Given the description of an element on the screen output the (x, y) to click on. 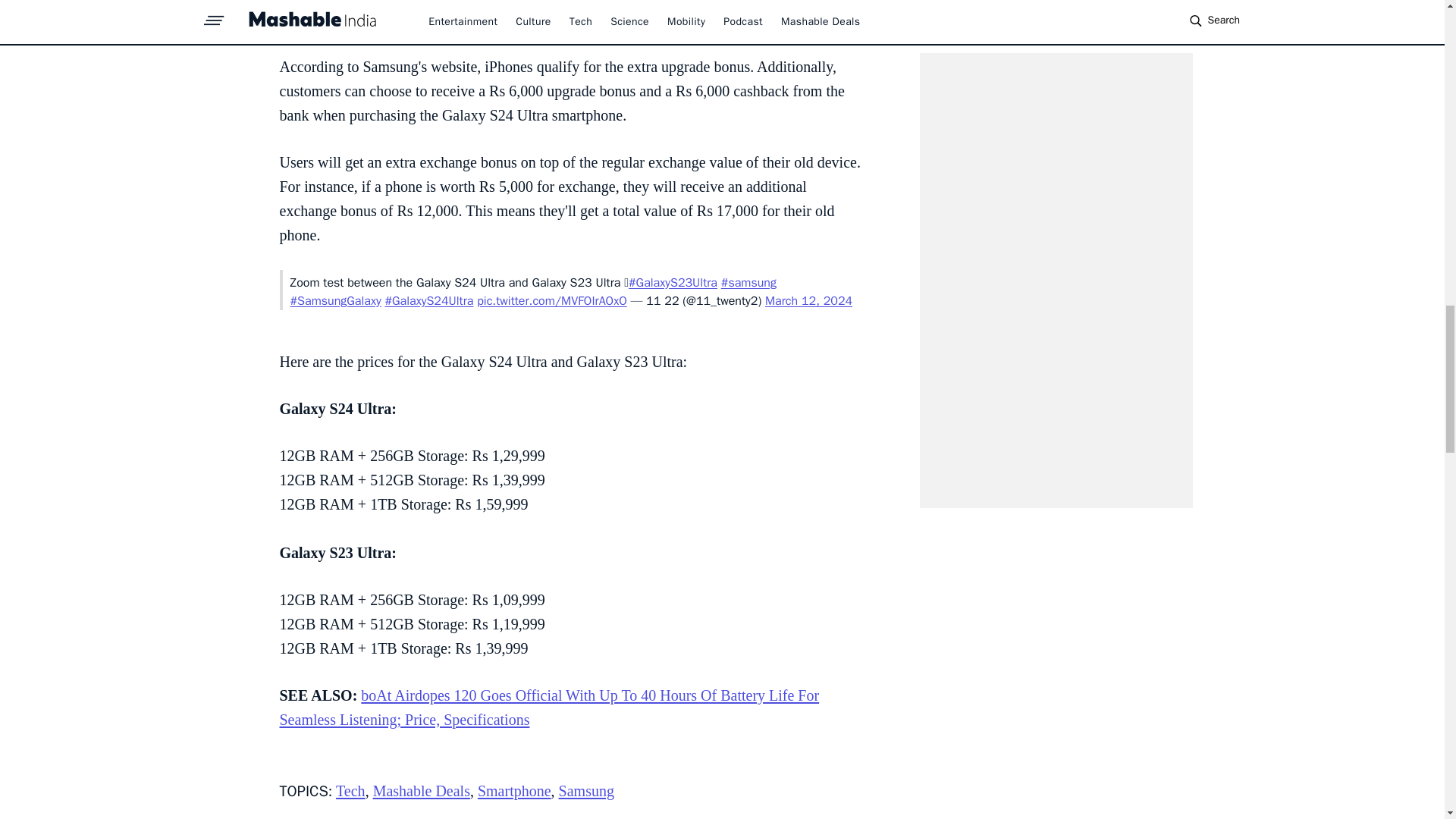
March 18, 2024 (691, 29)
Smartphone (514, 790)
March 12, 2024 (808, 300)
Tech (350, 790)
Samsung (586, 790)
Mashable Deals (421, 790)
